Given the description of an element on the screen output the (x, y) to click on. 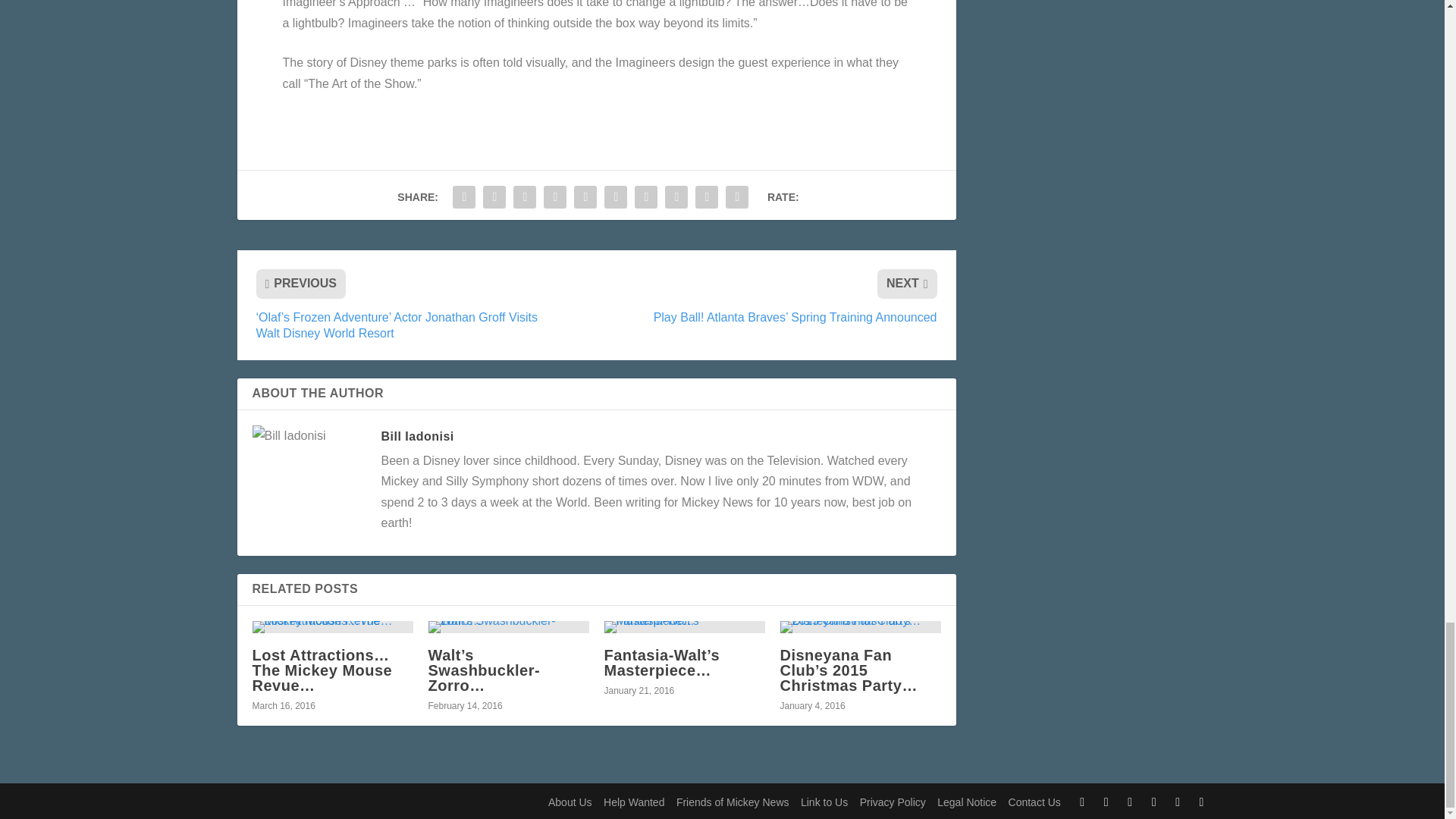
View all posts by Bill Iadonisi (416, 436)
